Given the description of an element on the screen output the (x, y) to click on. 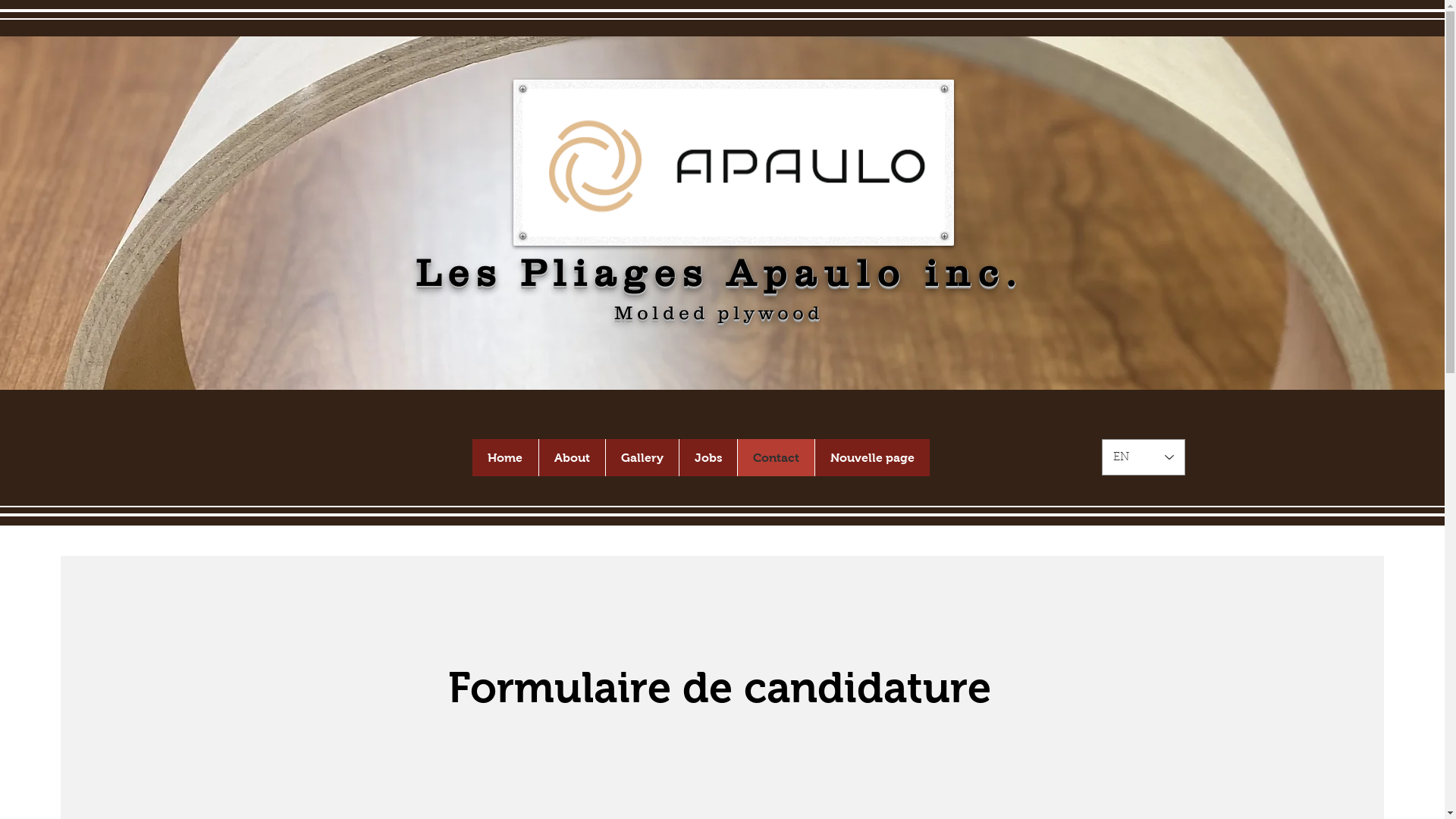
Jobs Element type: text (706, 457)
Home Element type: text (504, 457)
Les Pliages Apaulo inc. Element type: text (718, 272)
About Element type: text (571, 457)
Nouvelle page Element type: text (871, 457)
Gallery Element type: text (641, 457)
Contact Element type: text (775, 457)
